Given the description of an element on the screen output the (x, y) to click on. 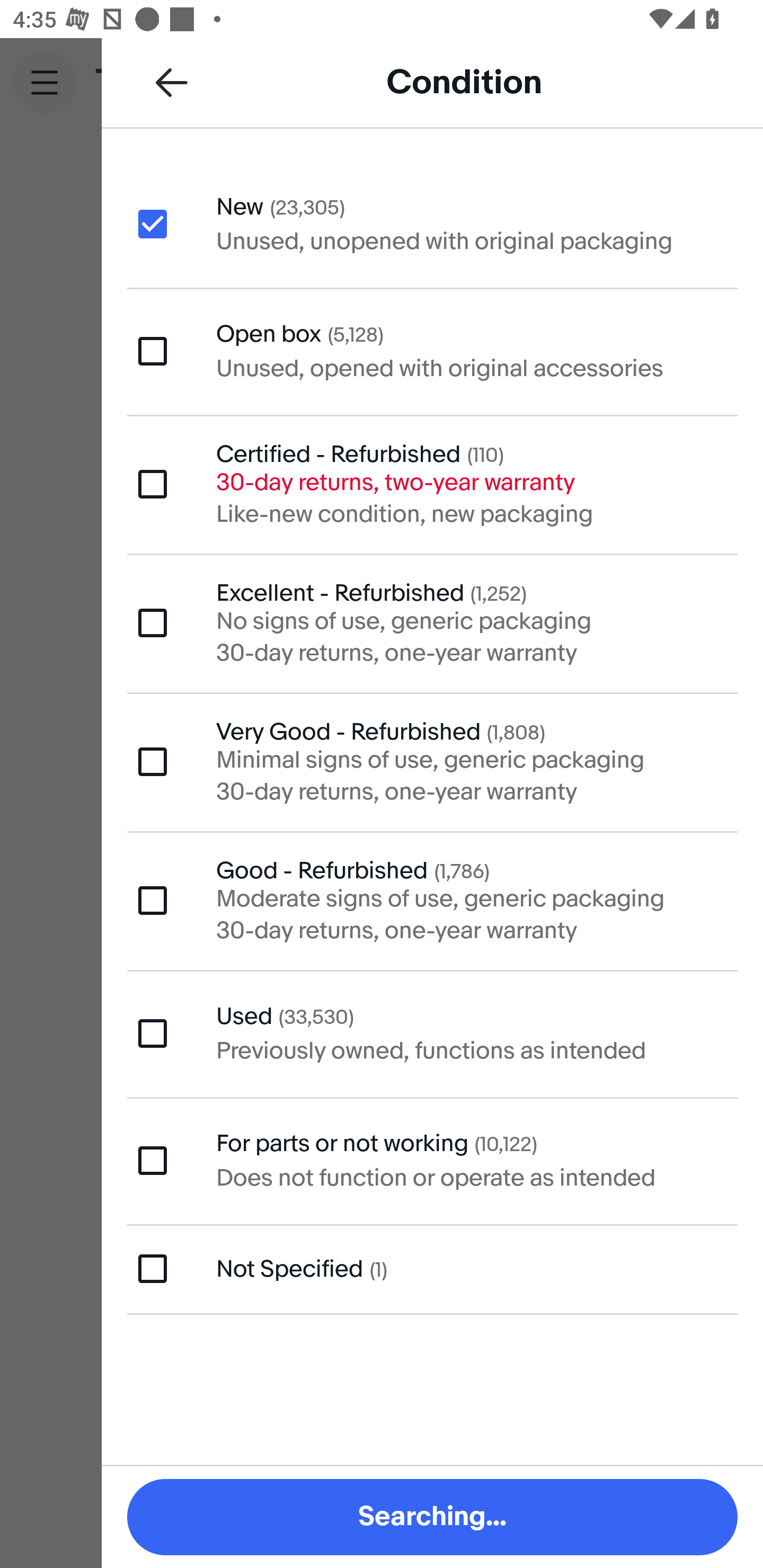
Back to all refinements (171, 81)
Not Specified (1) (432, 1268)
Searching... (432, 1516)
